Given the description of an element on the screen output the (x, y) to click on. 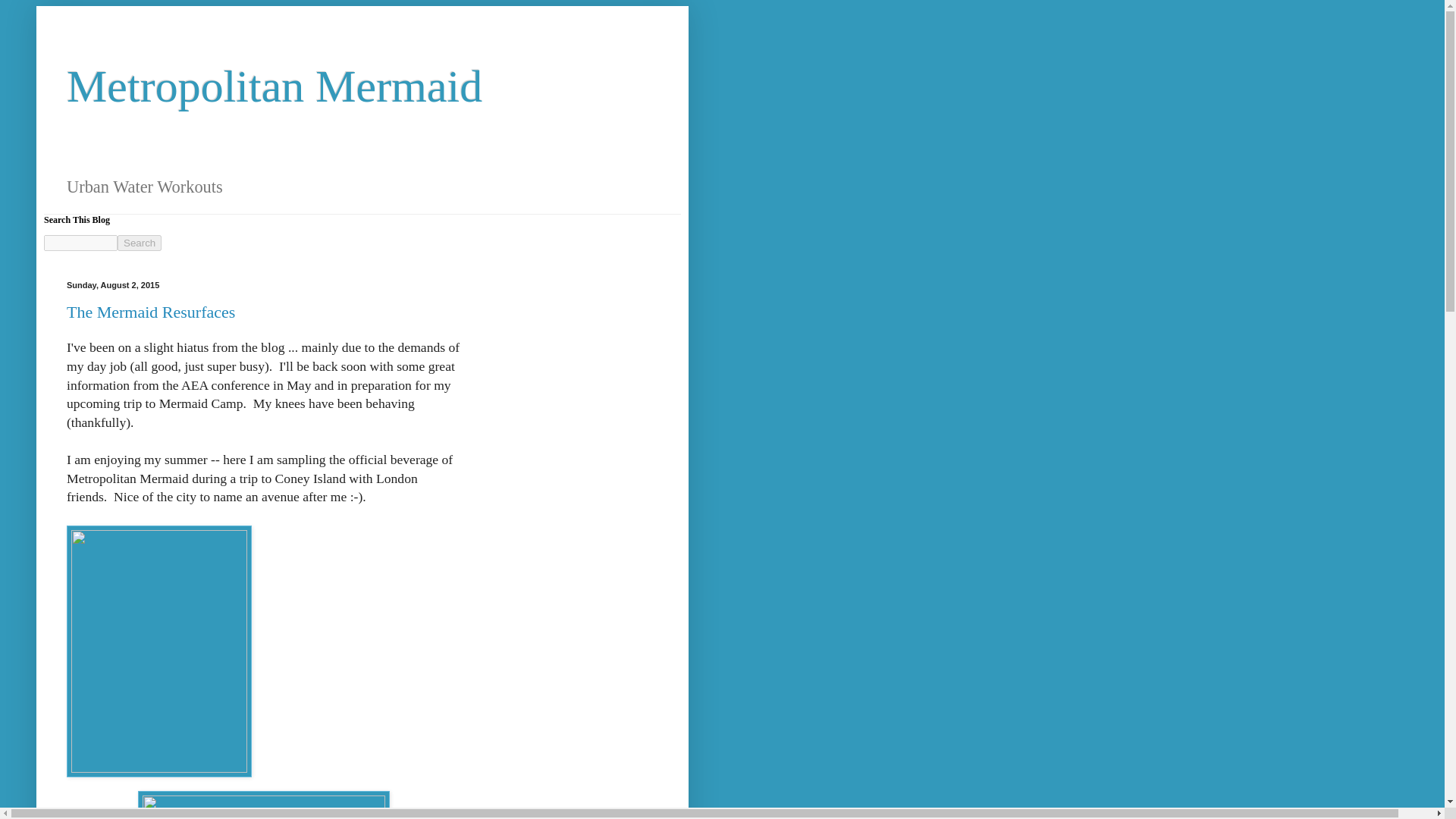
The Mermaid Resurfaces (150, 311)
Search (139, 242)
Search (139, 242)
search (80, 242)
search (139, 242)
Search (139, 242)
Metropolitan Mermaid (273, 86)
